Given the description of an element on the screen output the (x, y) to click on. 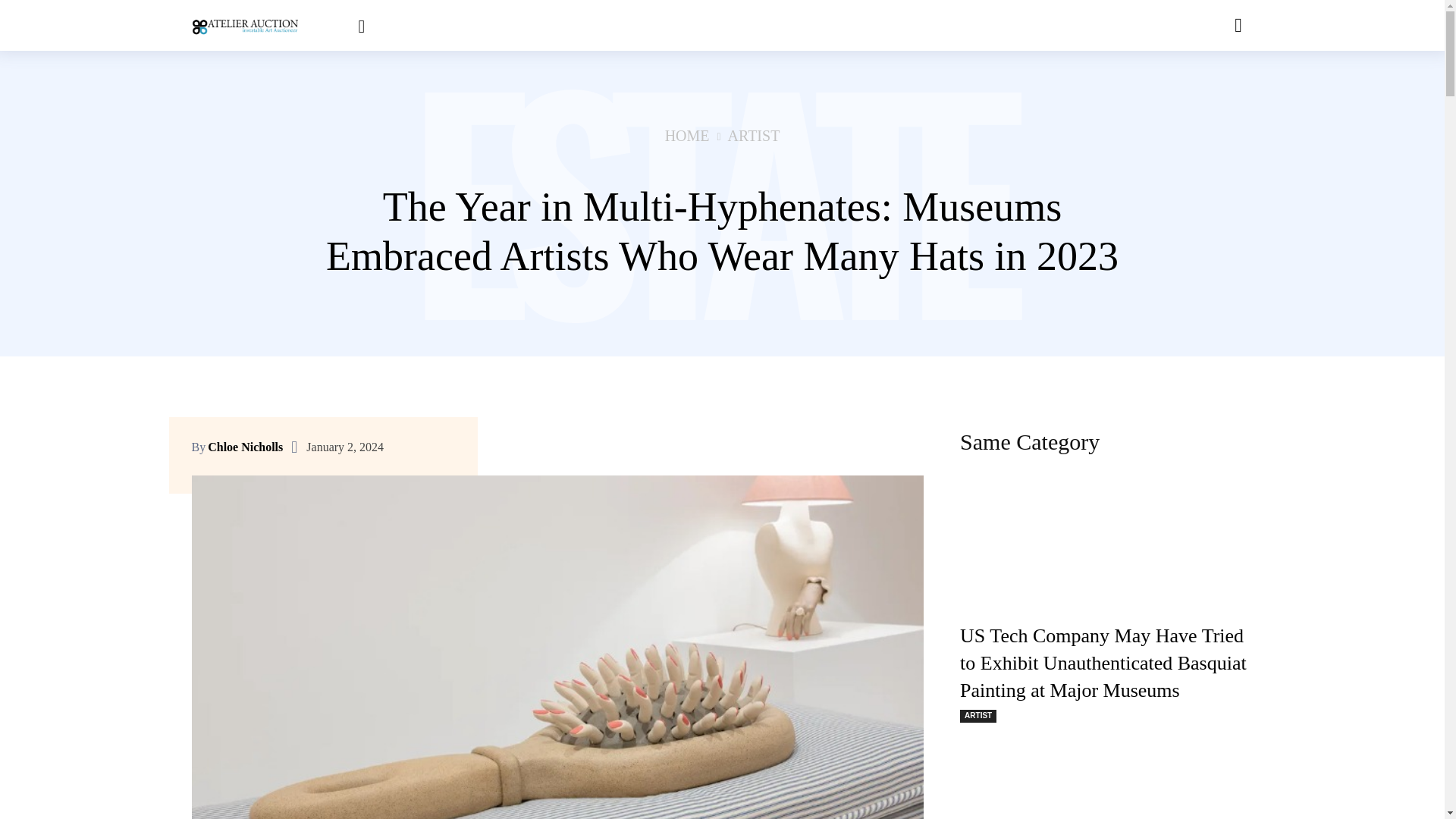
Chloe Nicholls (245, 447)
View all posts in Artist (754, 135)
HOME (687, 135)
ARTIST (754, 135)
